Given the description of an element on the screen output the (x, y) to click on. 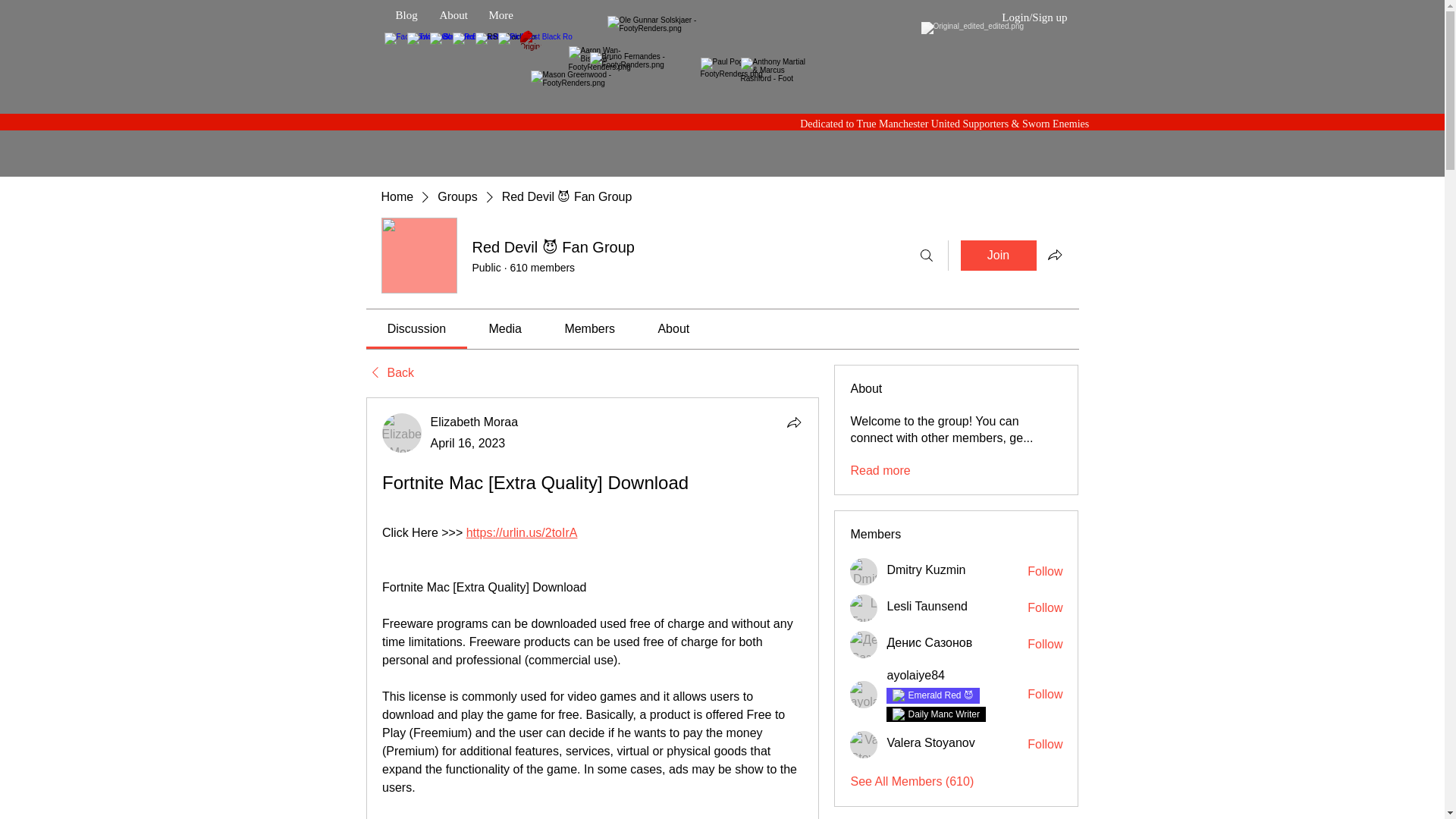
Join (997, 255)
Blog (406, 15)
Writers and blog contributors at the daily manc. (942, 714)
Follow (1044, 571)
Follow (1044, 644)
ayolaiye84 (915, 675)
Dmitry Kuzmin (925, 569)
Follow (1044, 694)
Follow (1044, 607)
Valera Stoyanov (930, 742)
